Given the description of an element on the screen output the (x, y) to click on. 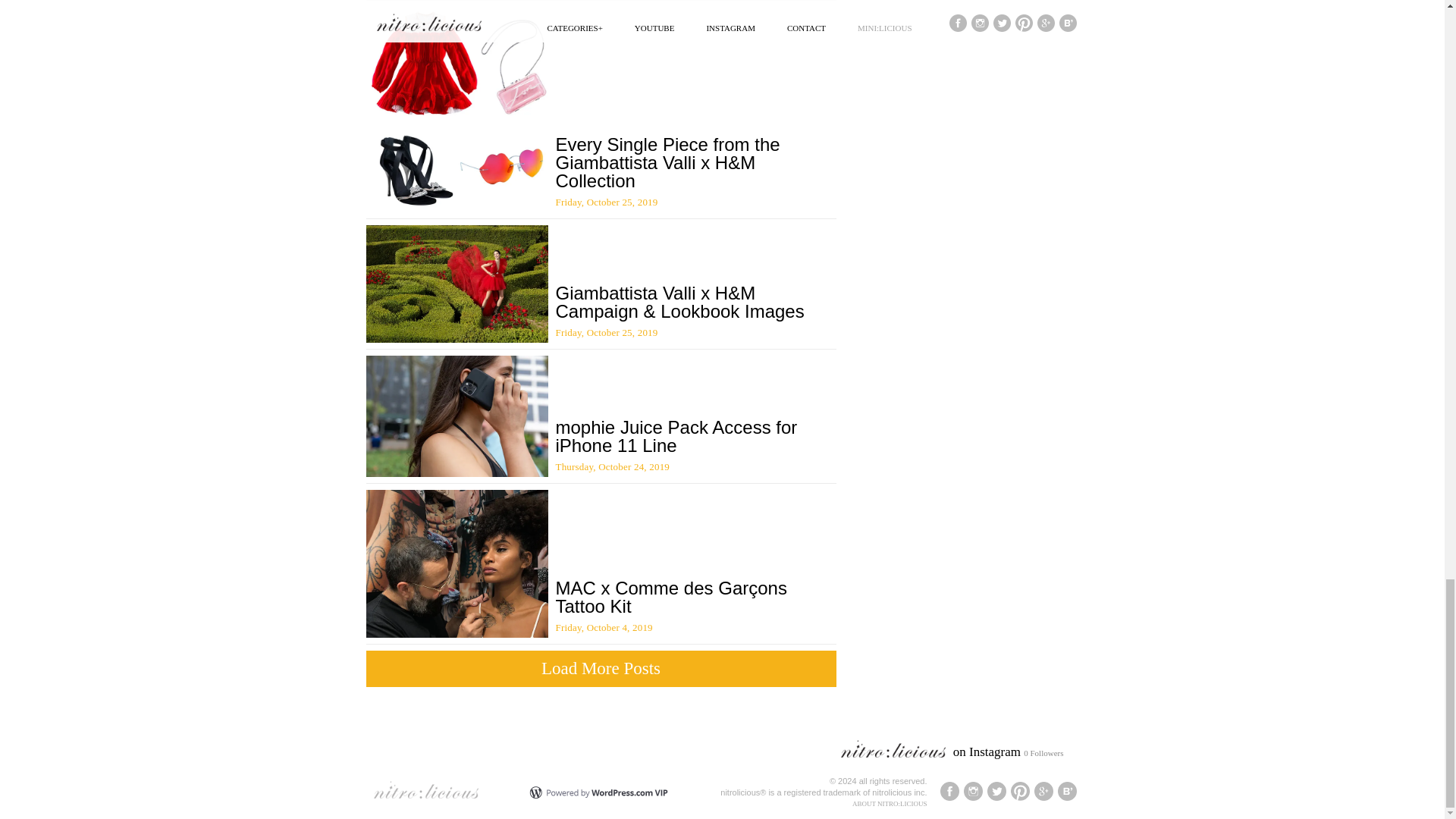
Load More Posts (600, 668)
mophie Juice Pack Access for iPhone 11 Line (675, 435)
